Given the description of an element on the screen output the (x, y) to click on. 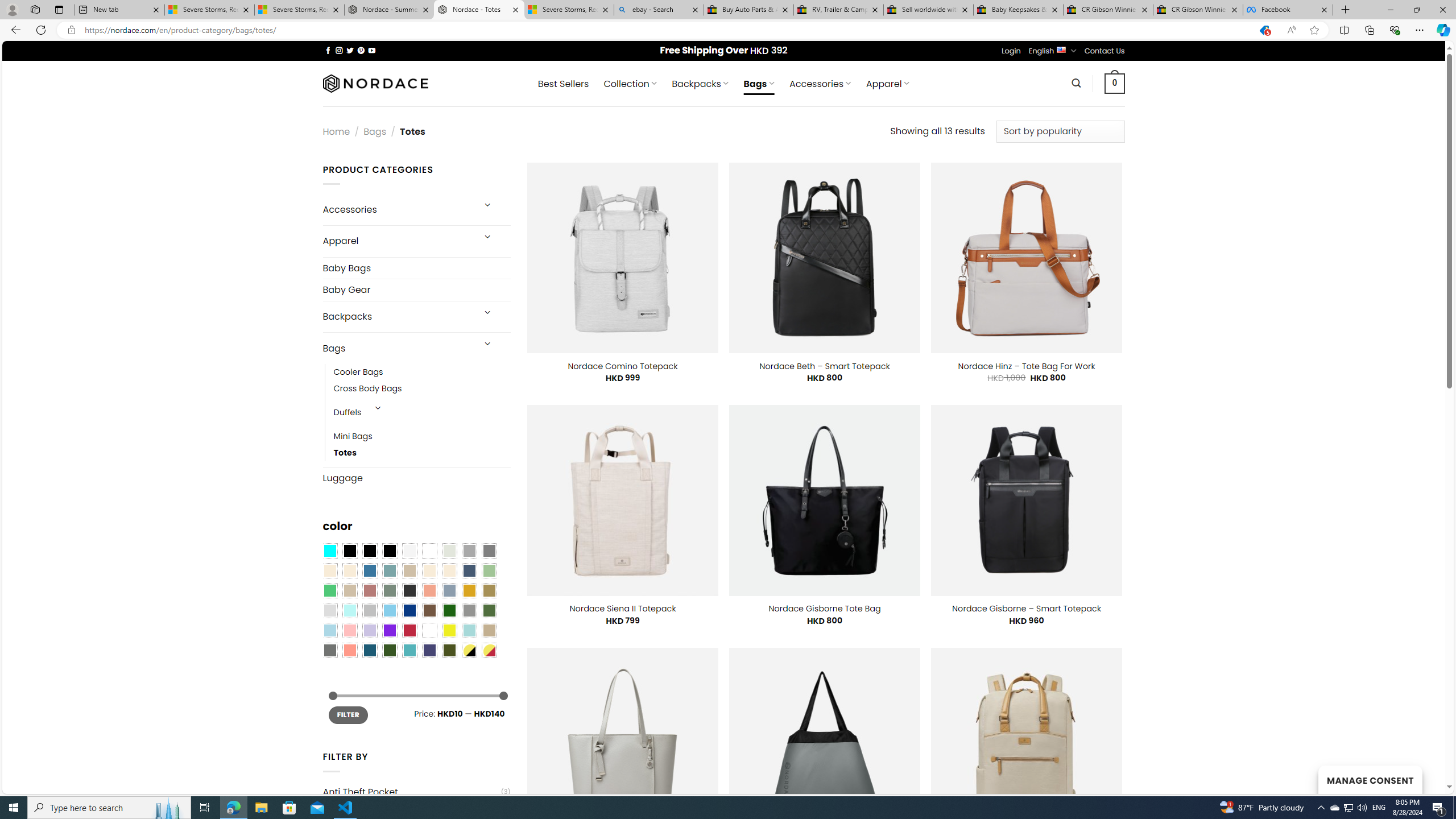
Contact Us (1104, 50)
Gray (468, 610)
 0  (1115, 83)
Facebook (1287, 9)
  Best Sellers (563, 83)
Nordace Siena II Totepack (622, 608)
Luggage (416, 477)
Cross Body Bags (367, 388)
English (1061, 49)
